Given the description of an element on the screen output the (x, y) to click on. 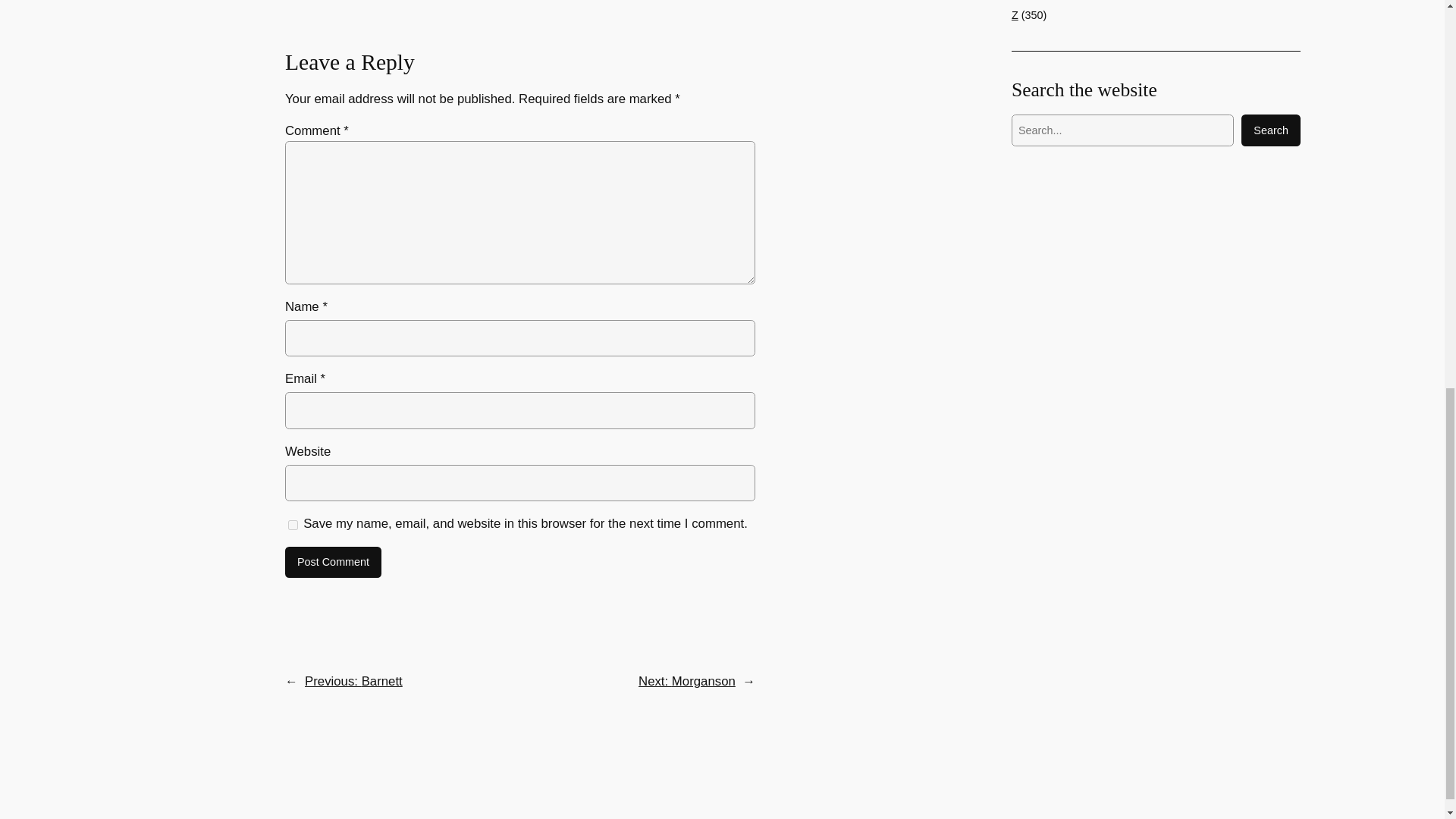
Next: Morganson (687, 681)
Post Comment (333, 562)
Post Comment (333, 562)
Previous: Barnett (353, 681)
